Given the description of an element on the screen output the (x, y) to click on. 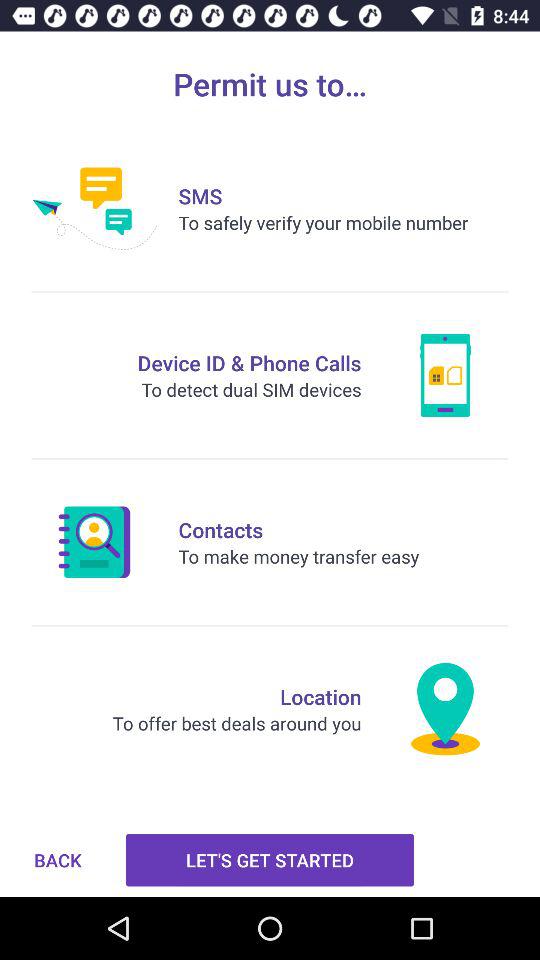
jump until the back icon (57, 859)
